Given the description of an element on the screen output the (x, y) to click on. 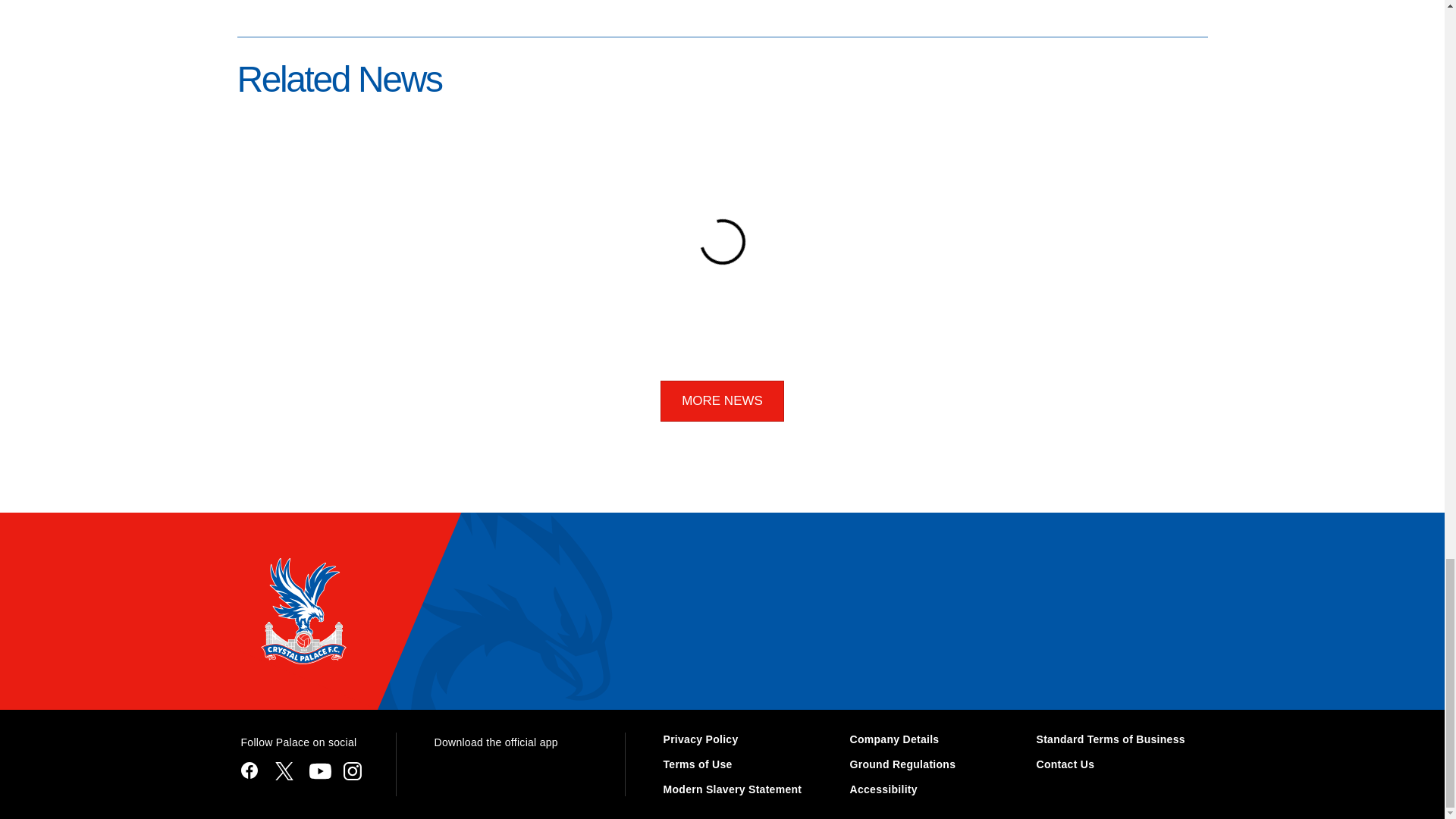
instagram (351, 768)
Crystal palace (302, 610)
MORE NEWS (722, 400)
Download the Crystal Palace FC app from the Google Play (472, 773)
twitter (283, 768)
facebook (249, 768)
youtube (319, 768)
